Given the description of an element on the screen output the (x, y) to click on. 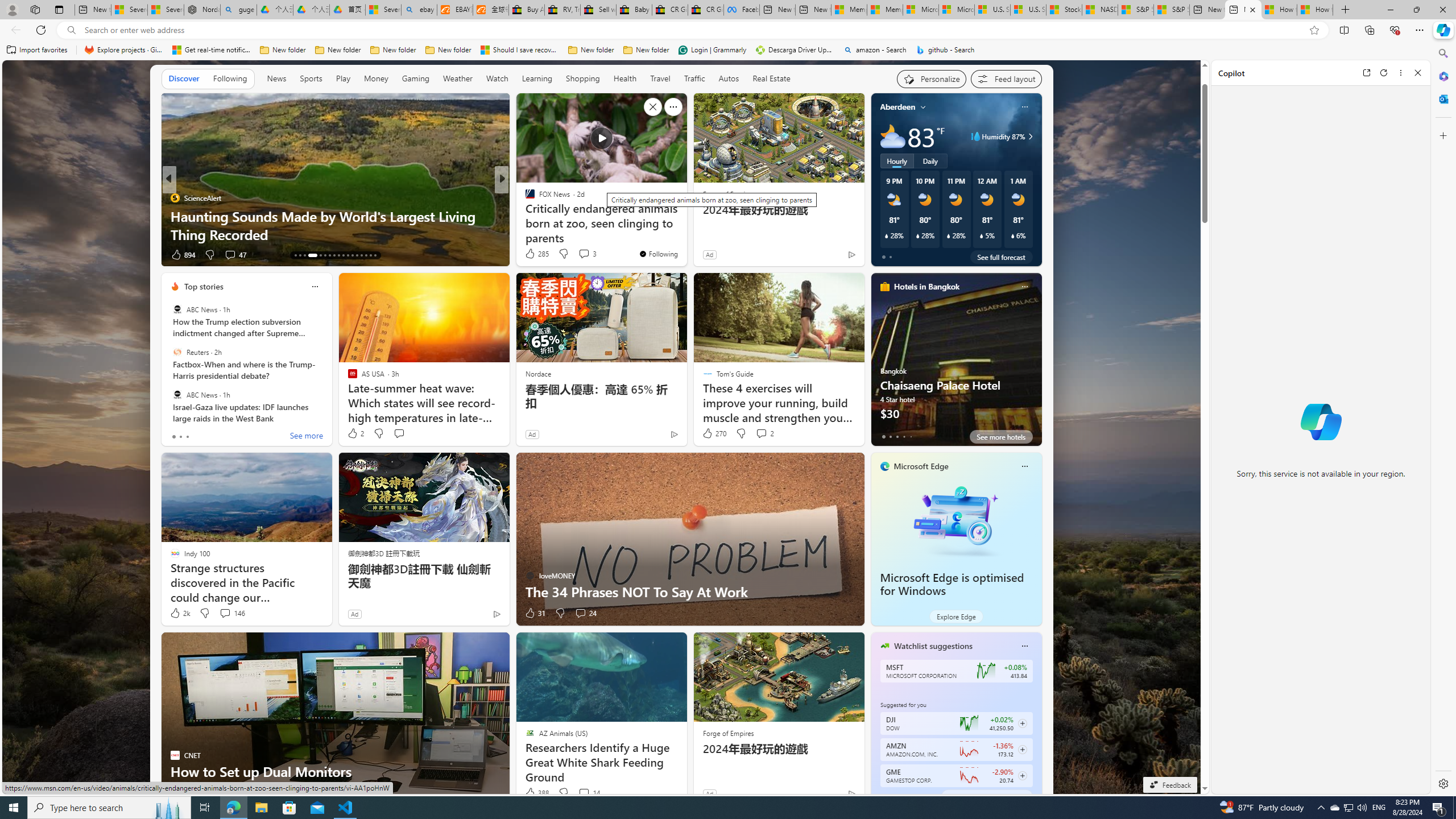
Feed settings (1005, 78)
Gaming (415, 79)
Search icon (70, 29)
2 Like (355, 433)
Autos (728, 79)
hotels-header-icon (884, 286)
AutomationID: tab-21 (338, 255)
AutomationID: tab-18 (324, 255)
AutomationID: backgroundImagePicture (601, 426)
Real Estate (771, 79)
